Given the description of an element on the screen output the (x, y) to click on. 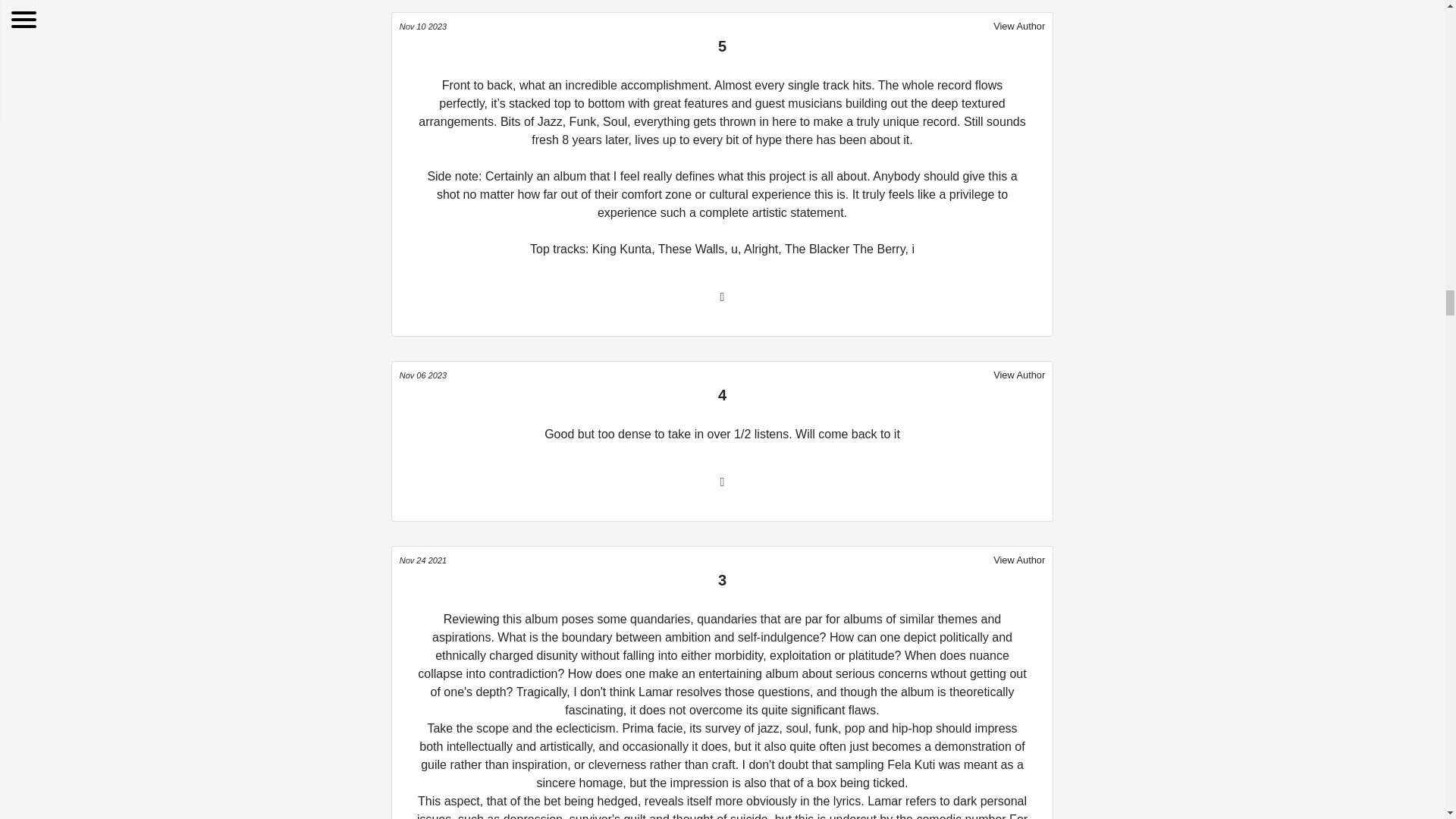
View Author (1018, 374)
View Author (1018, 25)
View Author (1018, 559)
